Given the description of an element on the screen output the (x, y) to click on. 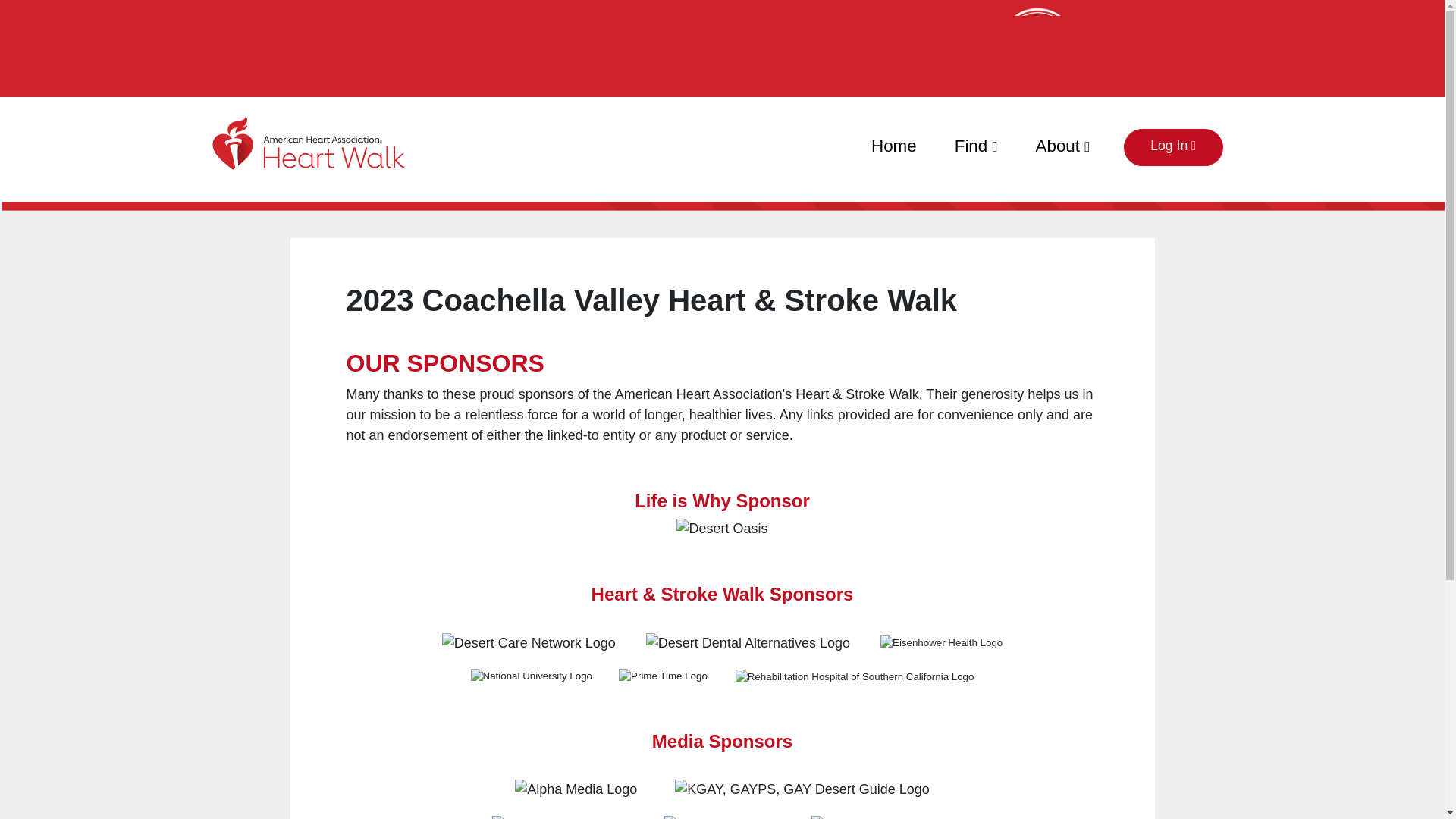
Log In (1173, 146)
About (1062, 143)
Find (976, 143)
Return to event page (320, 153)
Home (893, 143)
